Given the description of an element on the screen output the (x, y) to click on. 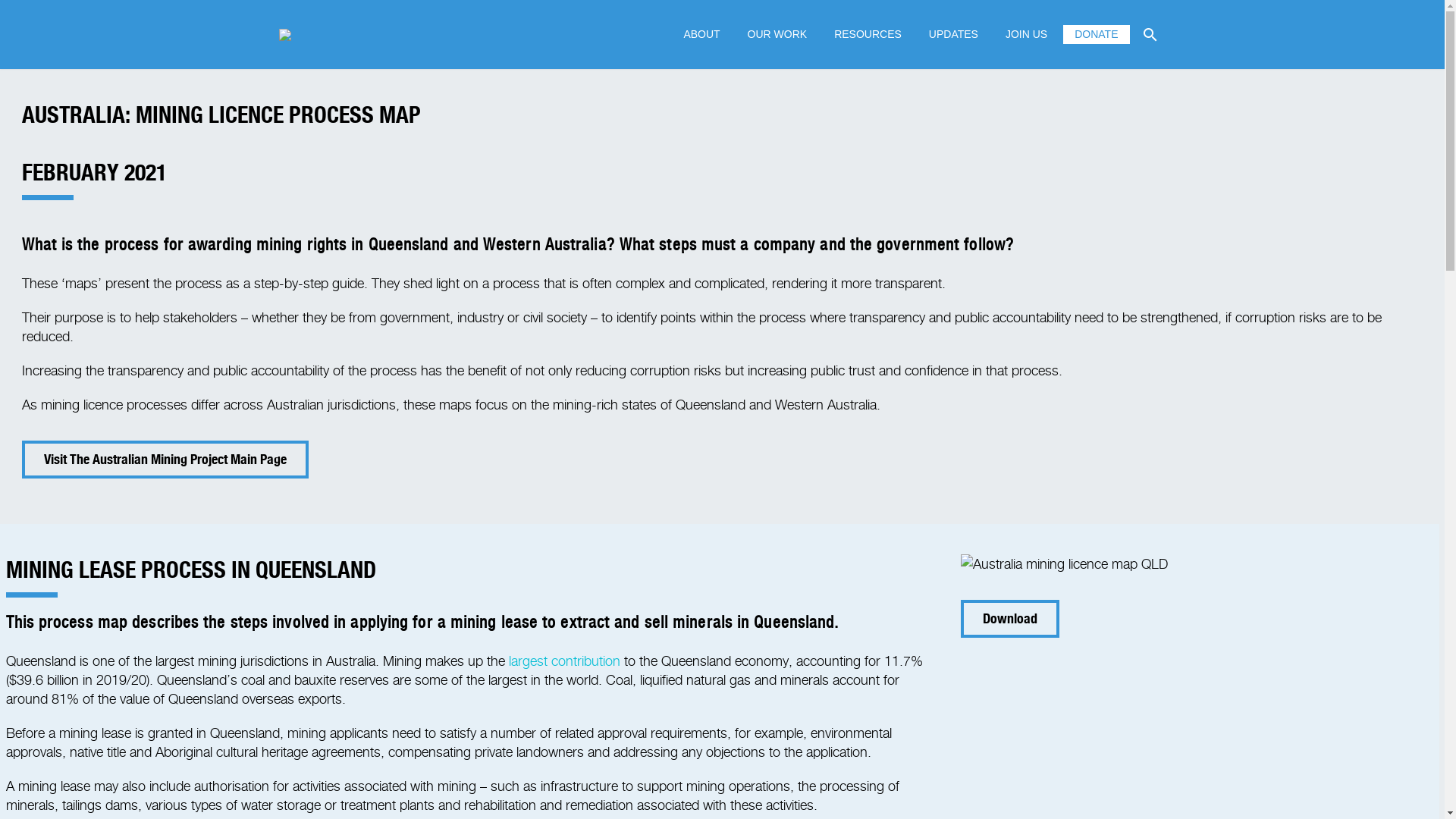
Visit The Australian Mining Project Main Page Element type: text (164, 459)
JOIN US Element type: text (1026, 34)
OUR WORK Element type: text (777, 34)
UPDATES Element type: text (953, 34)
RESOURCES Element type: text (867, 34)
DONATE Element type: text (1096, 34)
ABOUT Element type: text (701, 34)
Download Element type: text (1009, 618)
largest contribution Element type: text (565, 660)
